Given the description of an element on the screen output the (x, y) to click on. 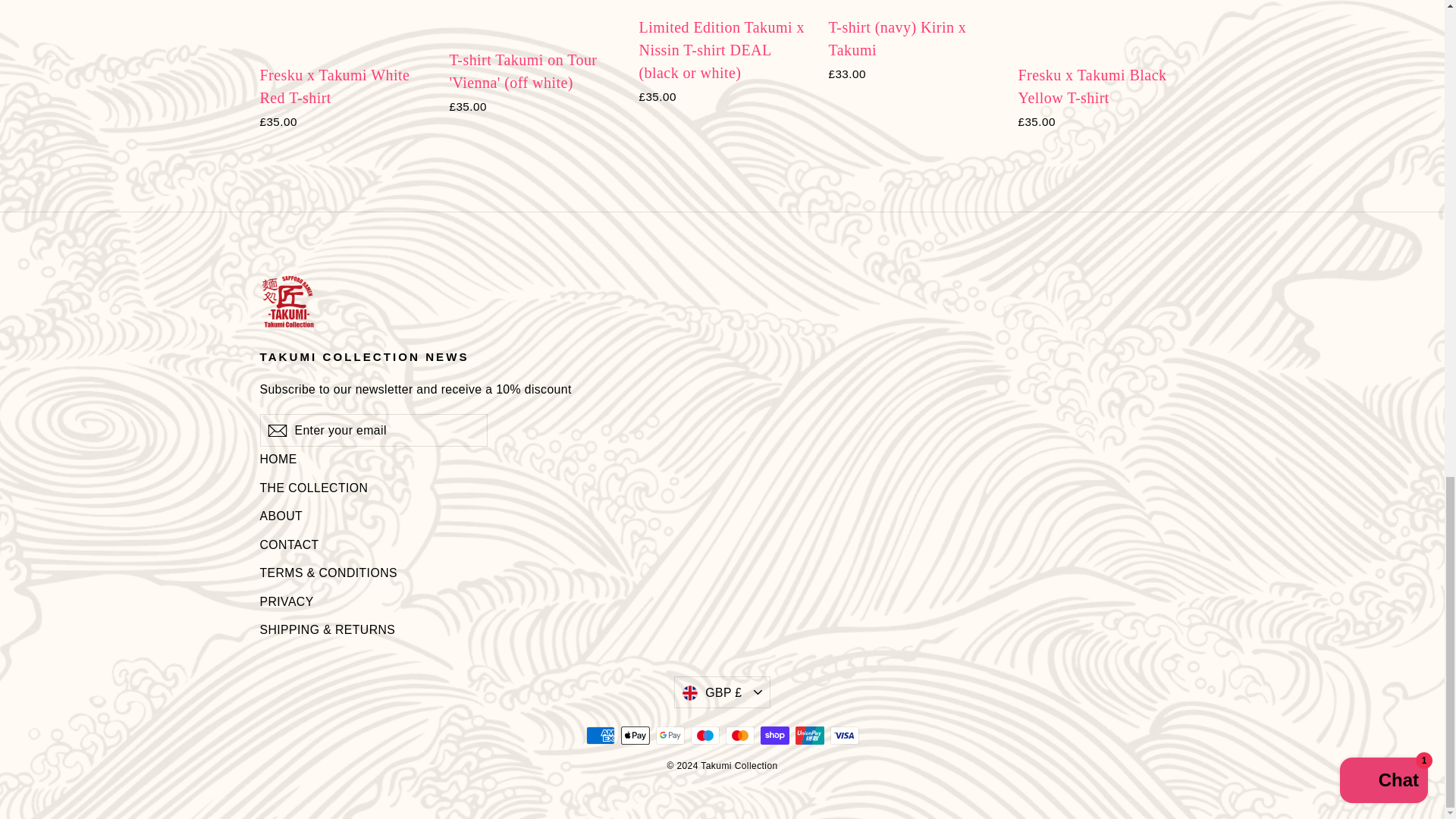
Mastercard (739, 735)
Apple Pay (634, 735)
Union Pay (809, 735)
Maestro (704, 735)
Shop Pay (774, 735)
Visa (844, 735)
American Express (599, 735)
Google Pay (669, 735)
